Given the description of an element on the screen output the (x, y) to click on. 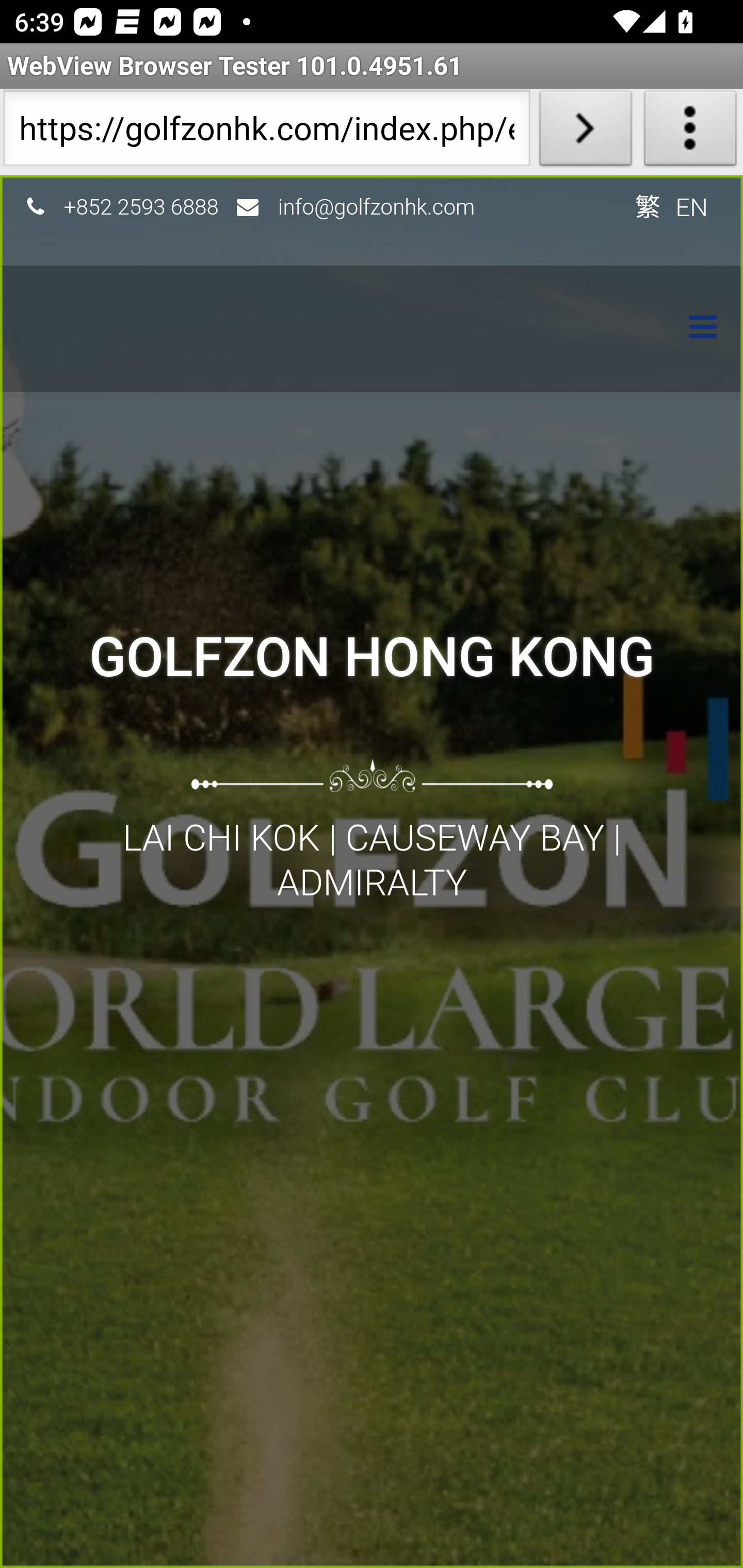
Load URL (585, 132)
About WebView (690, 132)
info@golfzonhk.com (377, 205)
繁 (647, 205)
EN (692, 205)
 (693, 328)
